Given the description of an element on the screen output the (x, y) to click on. 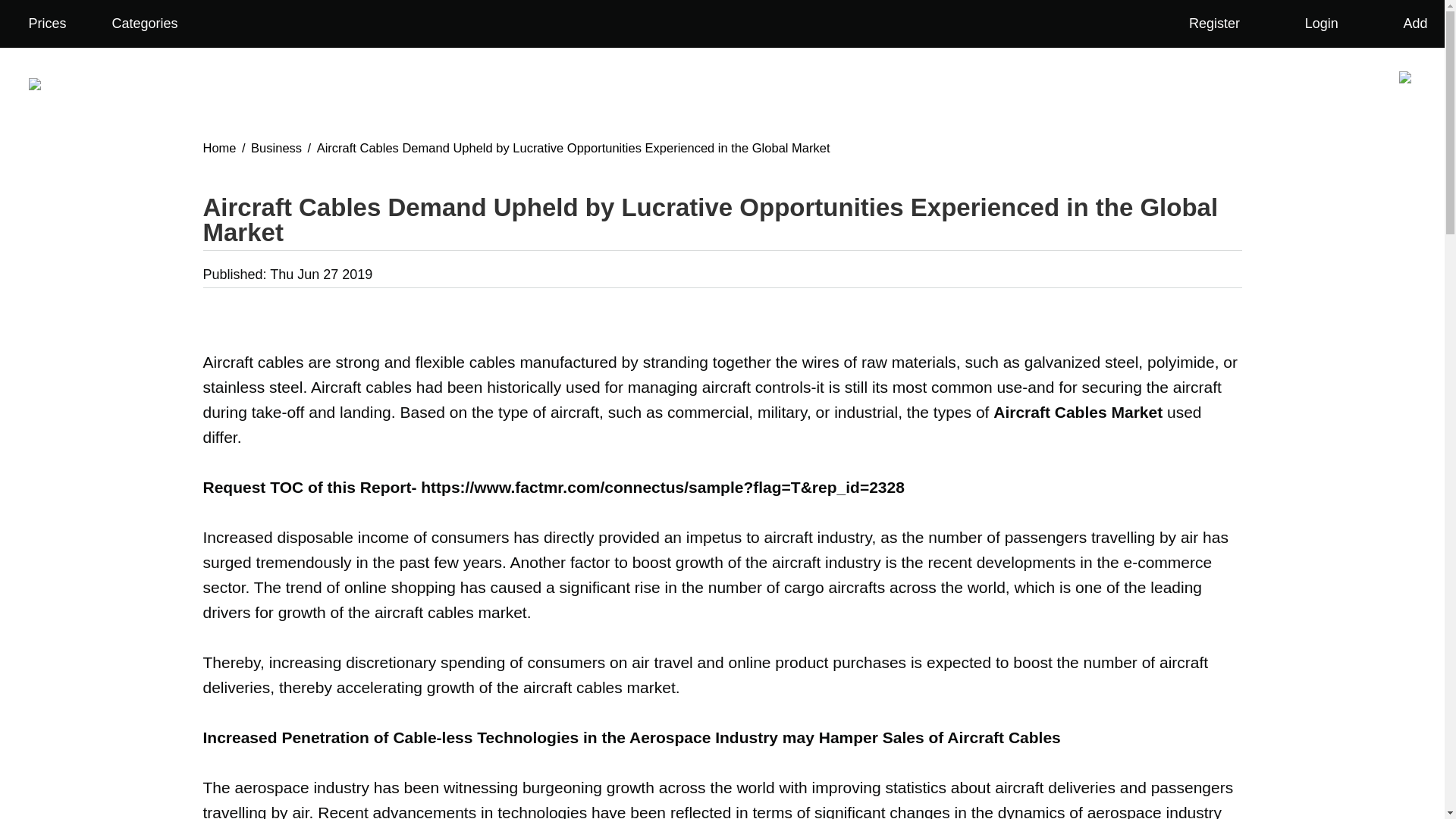
Aircraft Cables Market (1076, 411)
Home (219, 147)
Prices (46, 23)
Register (1203, 23)
Add (1406, 23)
Categories   (155, 23)
Login (1311, 23)
Business (275, 147)
